Given the description of an element on the screen output the (x, y) to click on. 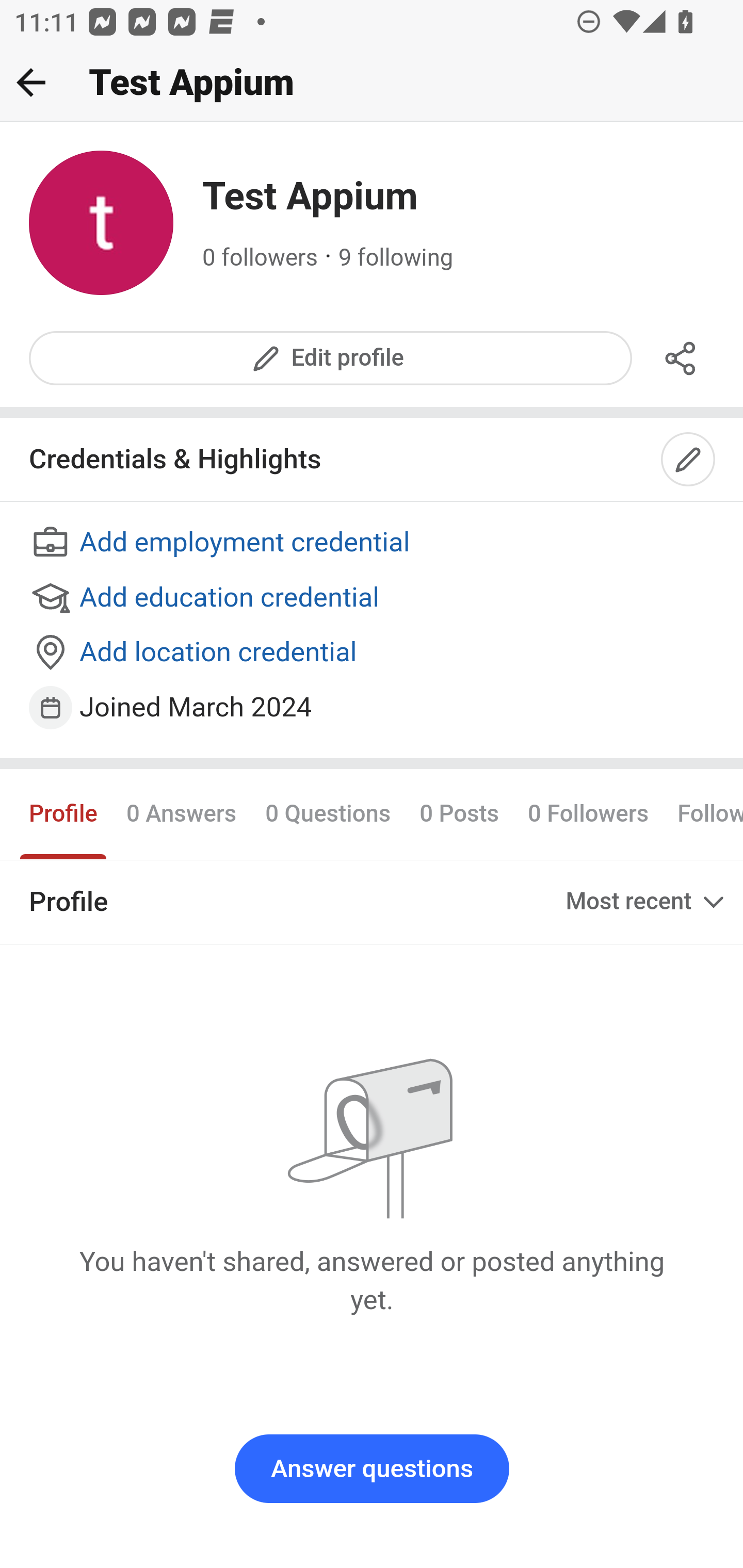
Back (30, 82)
Share (681, 358)
Edit profile (330, 357)
Edit credentials (688, 459)
Add employment credential (372, 543)
Add education credential (372, 598)
Add location credential (372, 653)
Profile (63, 813)
0 Answers (180, 813)
0 Questions (327, 813)
0 Posts (459, 813)
0 Followers (588, 813)
Most recent (647, 901)
Answer questions (371, 1469)
